Given the description of an element on the screen output the (x, y) to click on. 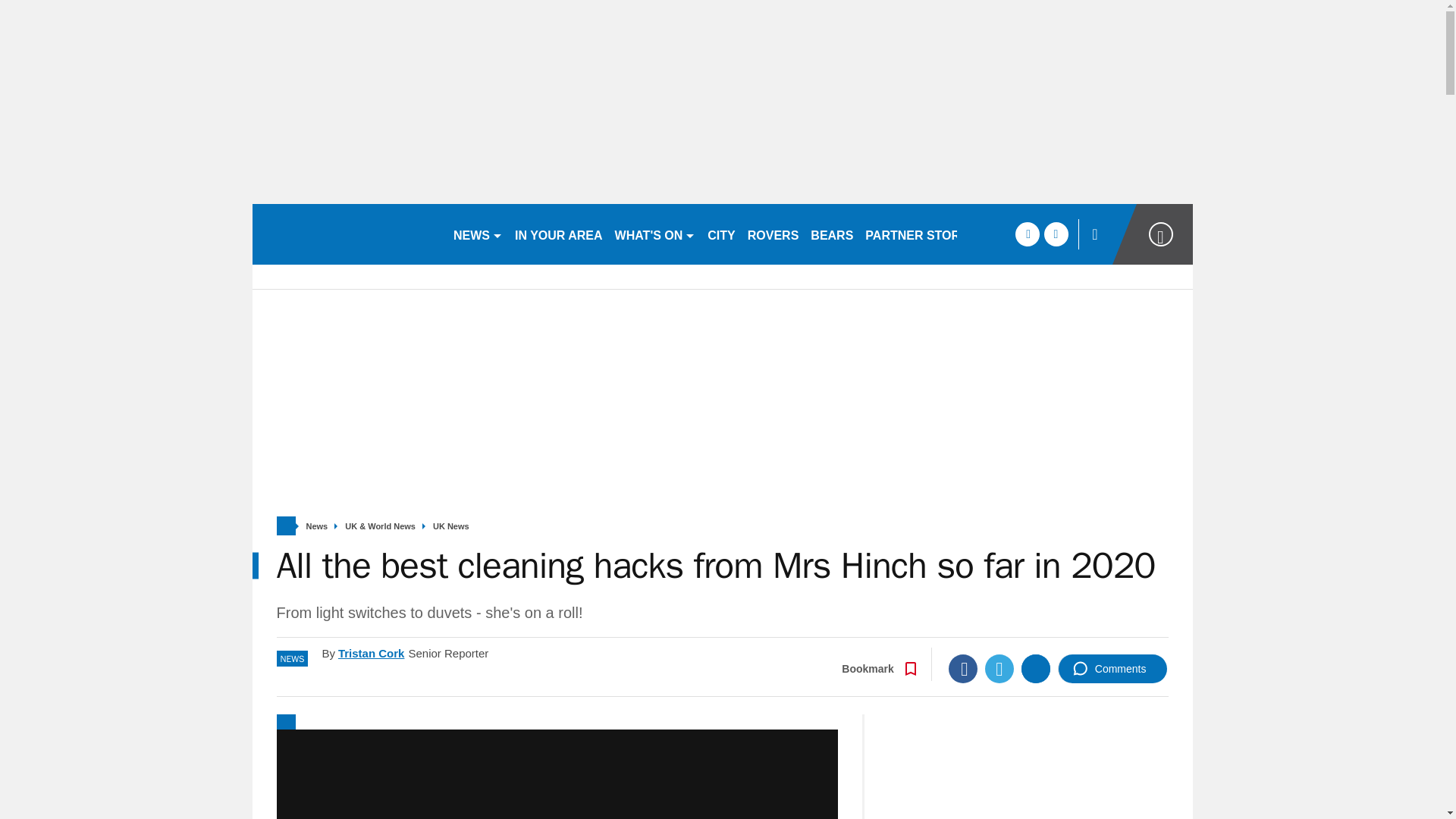
PARTNER STORIES (922, 233)
bristolpost (345, 233)
WHAT'S ON (654, 233)
Twitter (999, 668)
Comments (1112, 668)
NEWS (477, 233)
Facebook (962, 668)
facebook (1026, 233)
BEARS (832, 233)
ROVERS (773, 233)
